Given the description of an element on the screen output the (x, y) to click on. 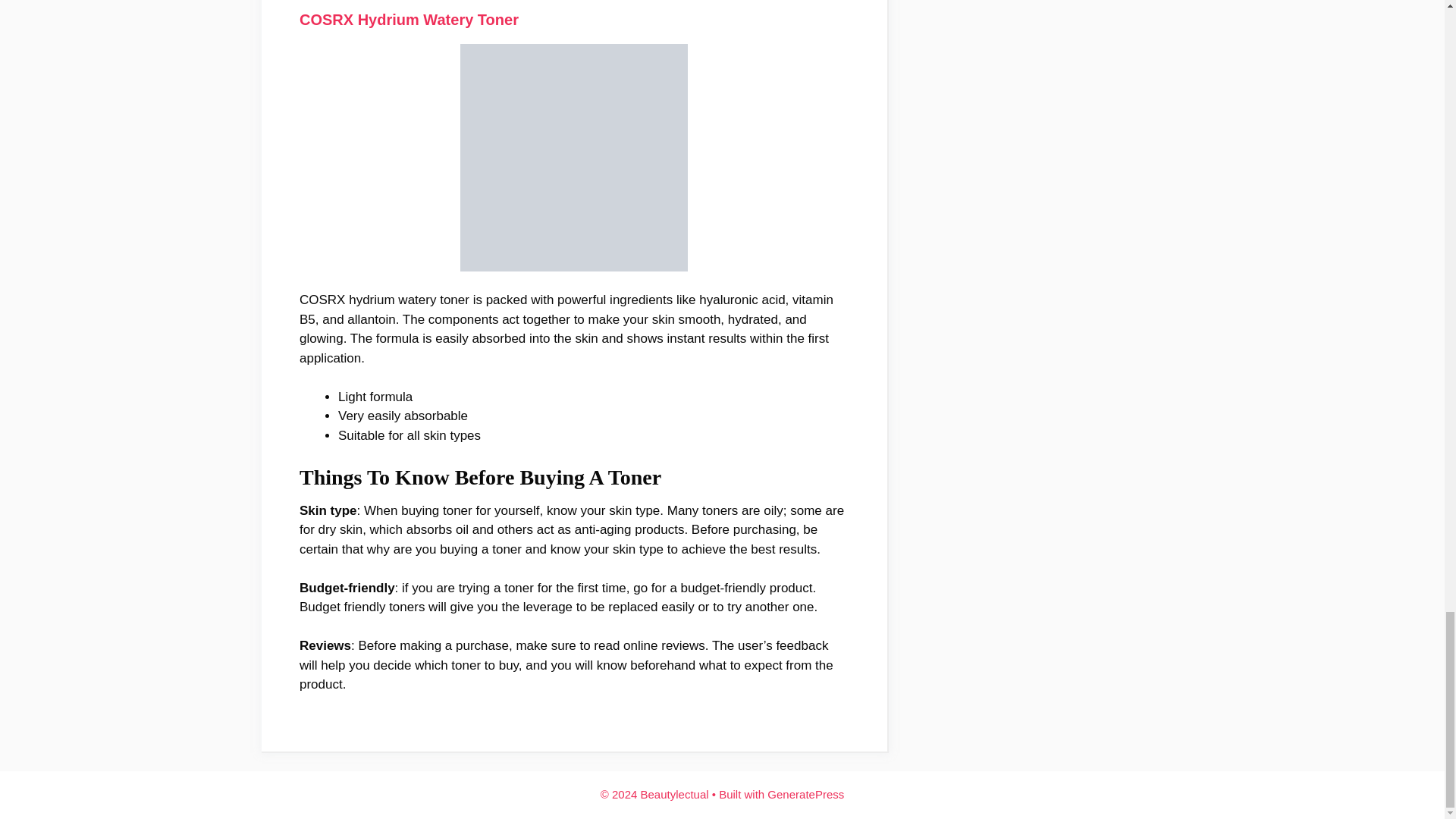
COSRX Hydrium Watery Toner (408, 19)
